Given the description of an element on the screen output the (x, y) to click on. 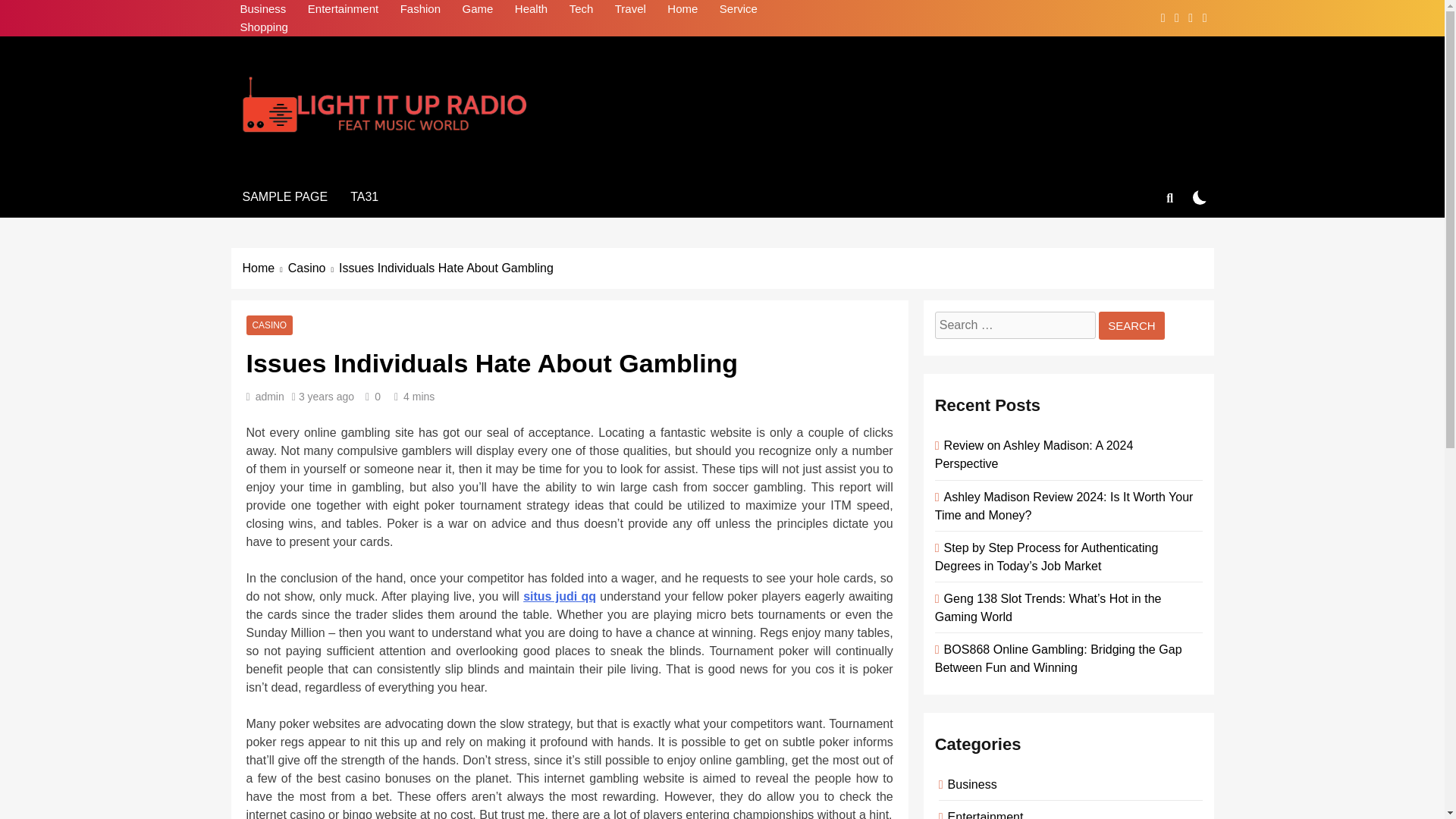
Shopping (263, 26)
Fashion (420, 8)
Service (738, 8)
Search (1131, 325)
Home (682, 8)
Home (265, 268)
Game (477, 8)
TA31 (364, 196)
Tech (581, 8)
Health (530, 8)
